Given the description of an element on the screen output the (x, y) to click on. 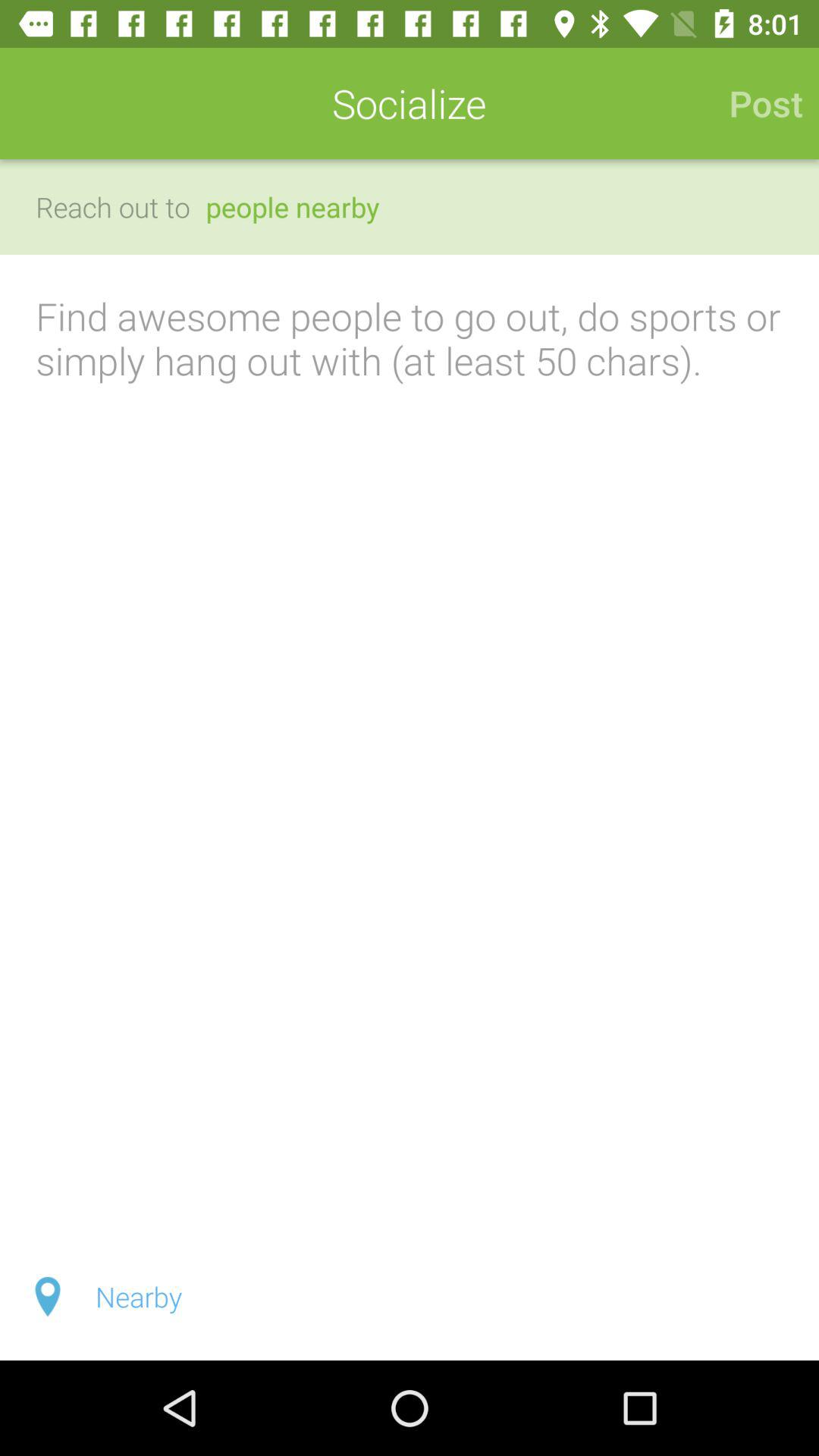
launch the post (758, 103)
